Given the description of an element on the screen output the (x, y) to click on. 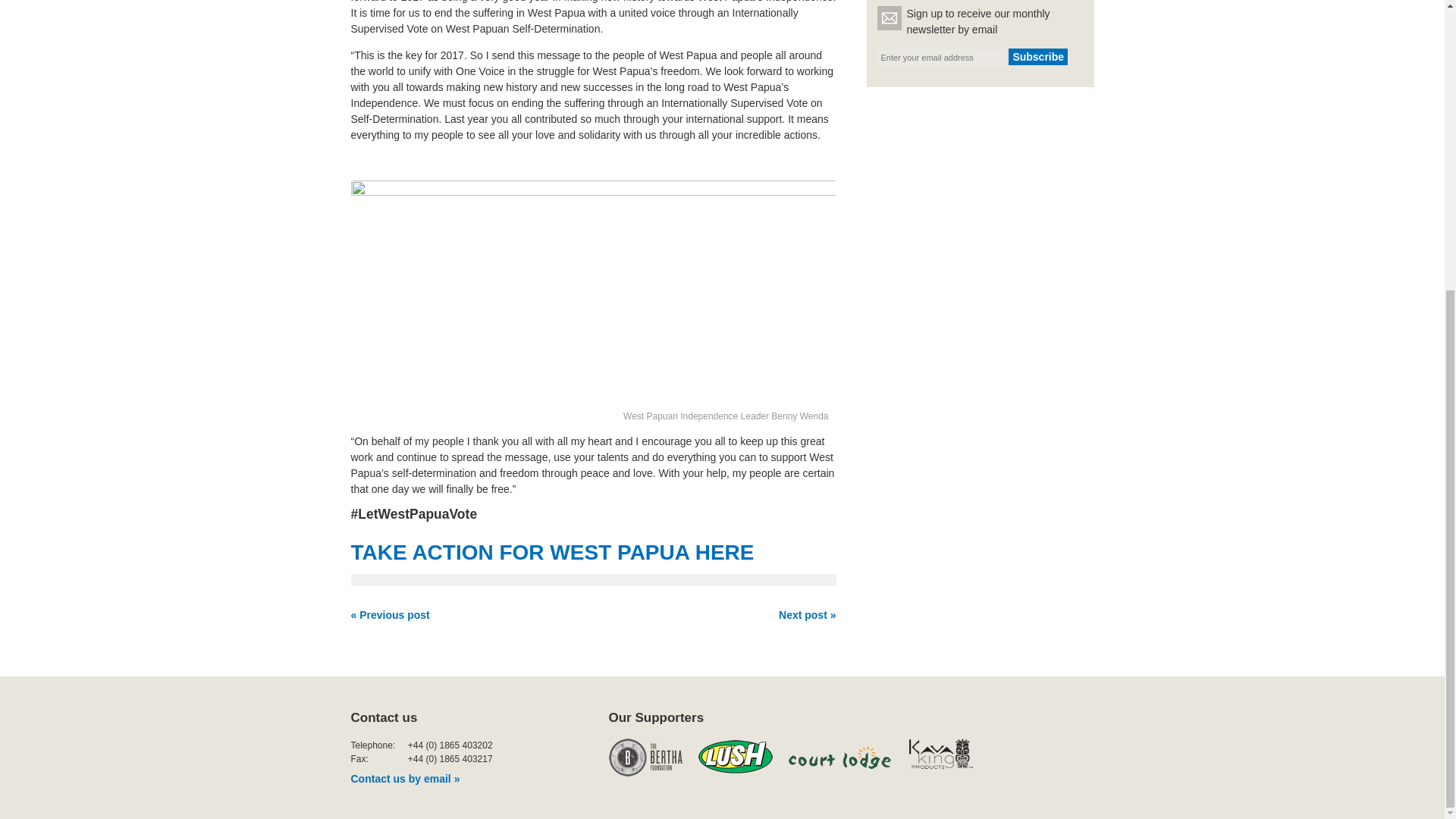
The Bertha Foundation (644, 757)
Court Lodge Organics (841, 757)
Visit The Bertha Foundation website (644, 757)
Subscribe (1038, 56)
Subscribe (1038, 56)
TAKE ACTION FOR WEST PAPUA HERE  (555, 552)
Visit the Kava King Products website (948, 757)
Subscribe to our email newsletter (1038, 56)
Visit the Lush website (734, 757)
Kava King Products (948, 757)
Lush (734, 757)
Visit the Court Lodge Organics website (841, 757)
